Given the description of an element on the screen output the (x, y) to click on. 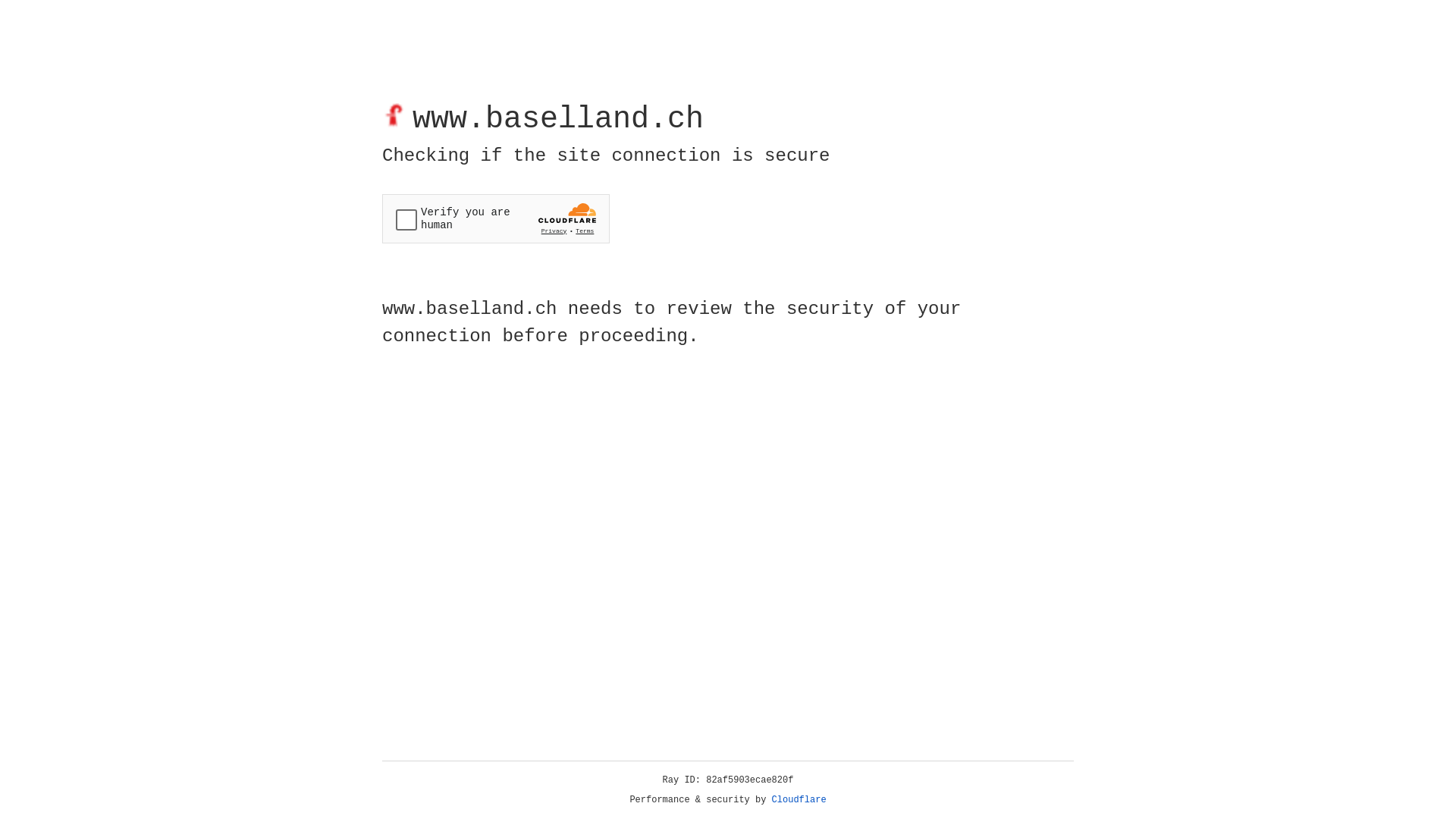
Cloudflare Element type: text (798, 799)
Widget containing a Cloudflare security challenge Element type: hover (495, 218)
